Given the description of an element on the screen output the (x, y) to click on. 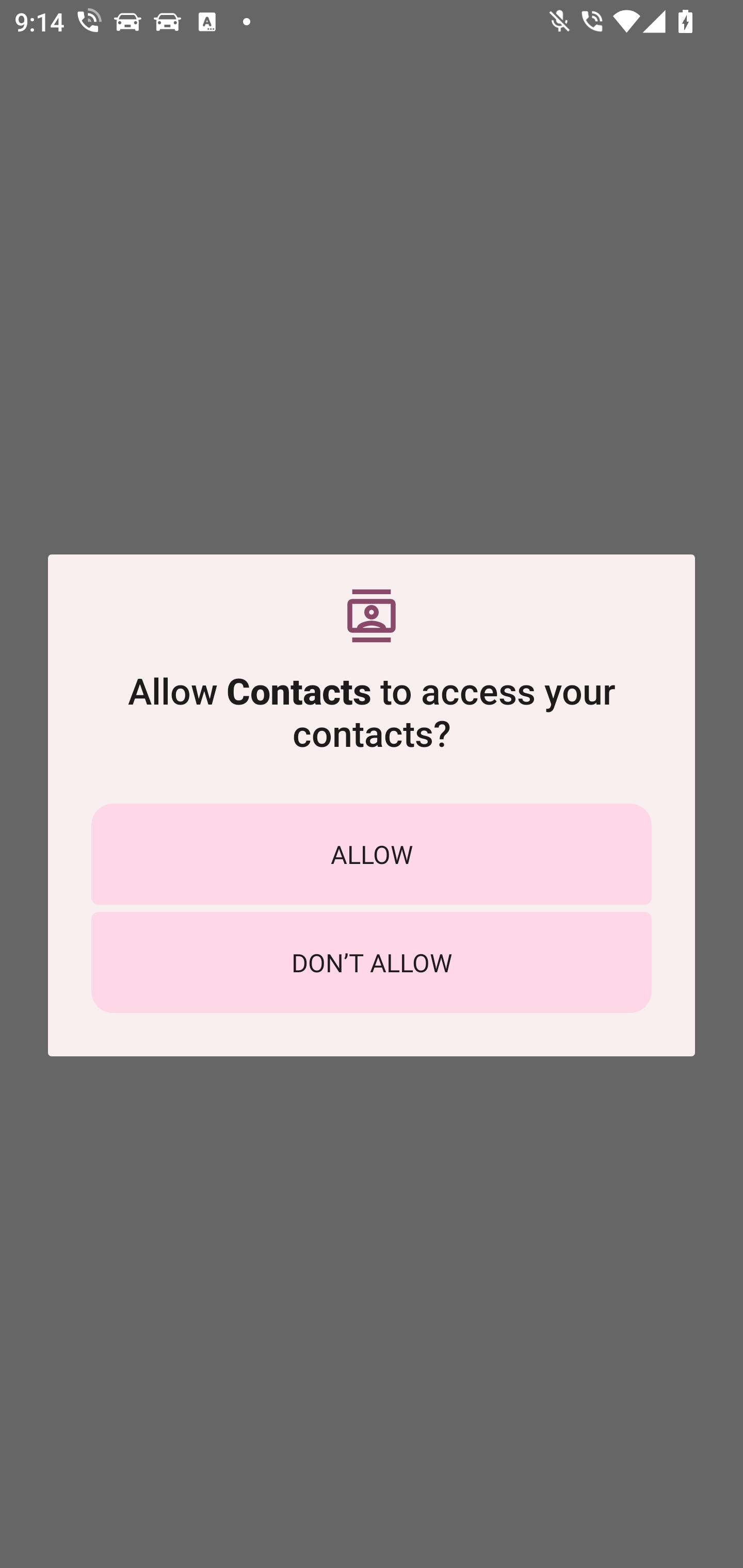
ALLOW (371, 853)
DON’T ALLOW (371, 962)
